Given the description of an element on the screen output the (x, y) to click on. 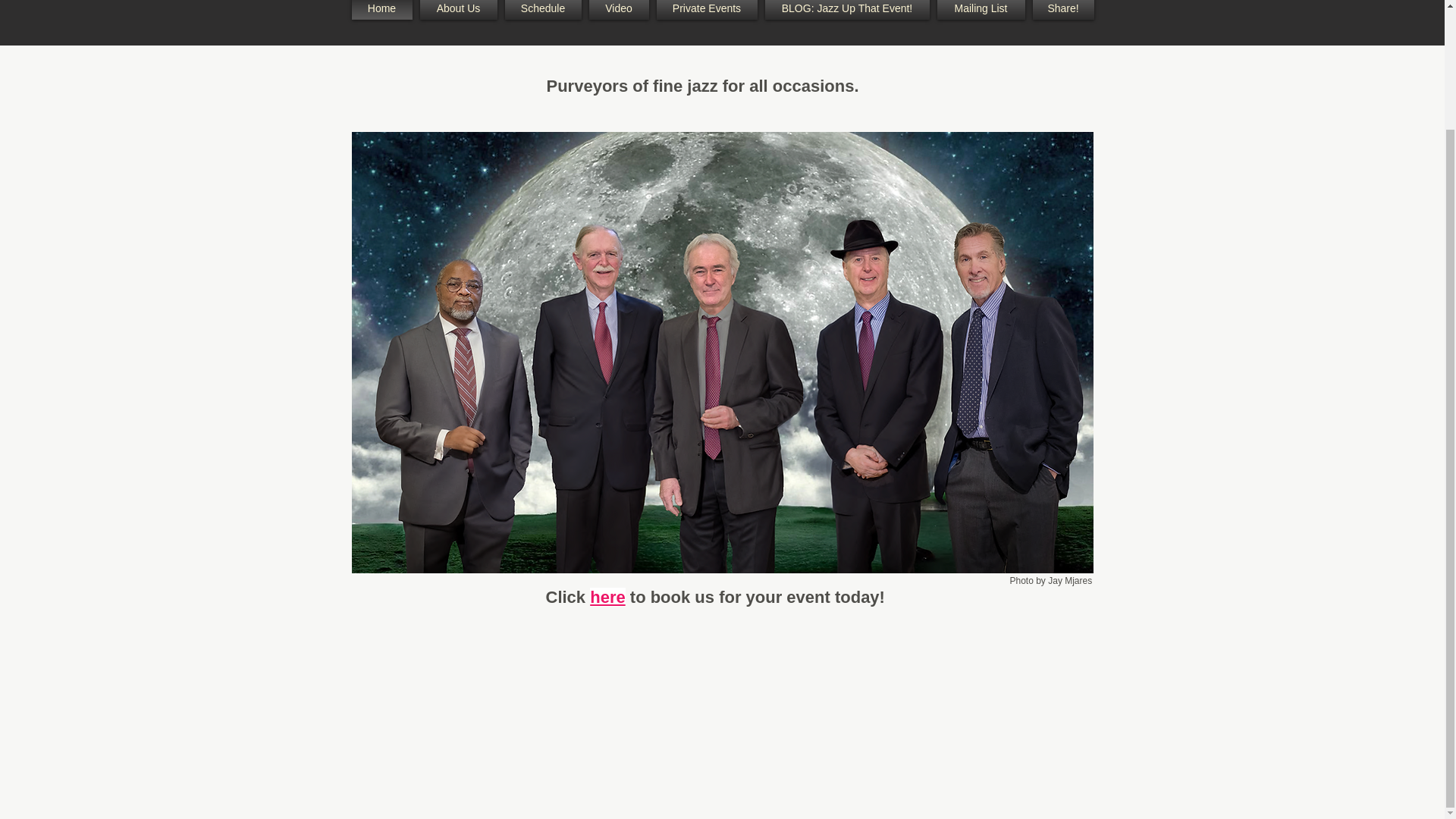
Share! (1060, 9)
About Us (457, 9)
Twitter Follow (722, 698)
Schedule (542, 9)
Facebook Like (641, 698)
Home (384, 9)
BLOG: Jazz Up That Event! (847, 9)
Video (618, 9)
Mailing List (980, 9)
here (606, 597)
Private Events (706, 9)
Pin to Pinterest (803, 698)
